Given the description of an element on the screen output the (x, y) to click on. 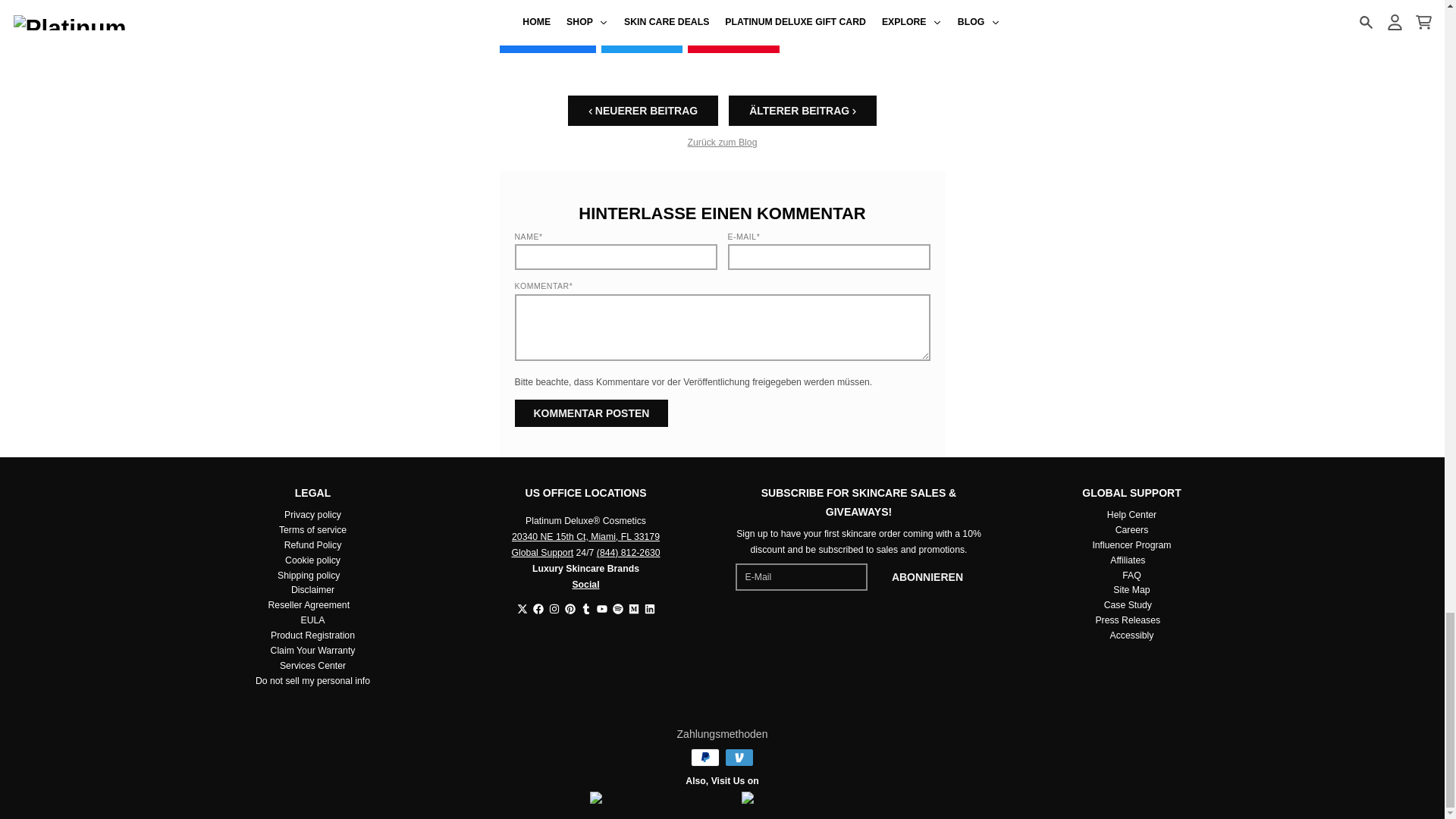
Pinterest - Platinum Deluxe Cosmetics (569, 608)
Medium - Platinum Deluxe Cosmetics (633, 608)
Spotify - Platinum Deluxe Cosmetics (617, 608)
YouTube - Platinum Deluxe Cosmetics (601, 608)
Kommentar posten (590, 412)
Tumblr - Platinum Deluxe Cosmetics (585, 608)
Facebook - Platinum Deluxe Cosmetics (537, 608)
Twitter - Platinum Deluxe Cosmetics (521, 608)
LinkedIn - Platinum Deluxe Cosmetics (650, 608)
Instagram - Platinum Deluxe Cosmetics (553, 608)
